Given the description of an element on the screen output the (x, y) to click on. 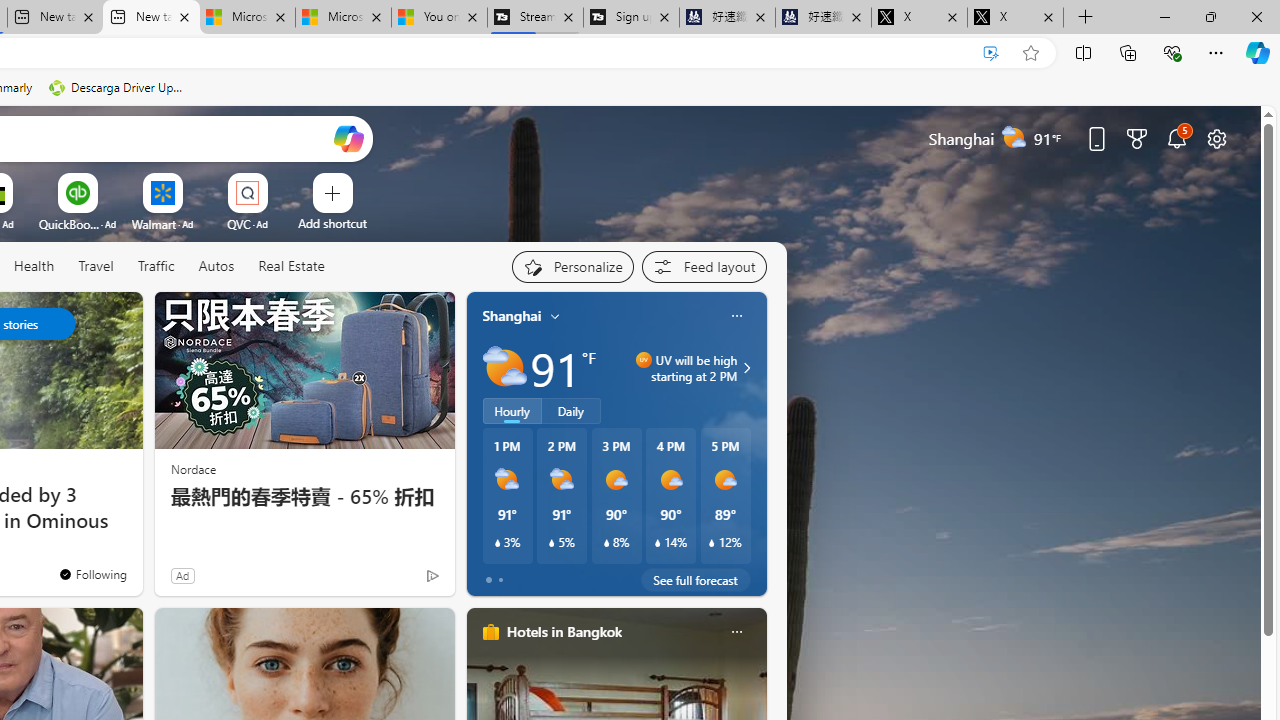
Partly sunny (504, 368)
My location (555, 315)
Hotels in Bangkok (563, 631)
Personalize your feed" (571, 266)
Page settings (1216, 138)
